Given the description of an element on the screen output the (x, y) to click on. 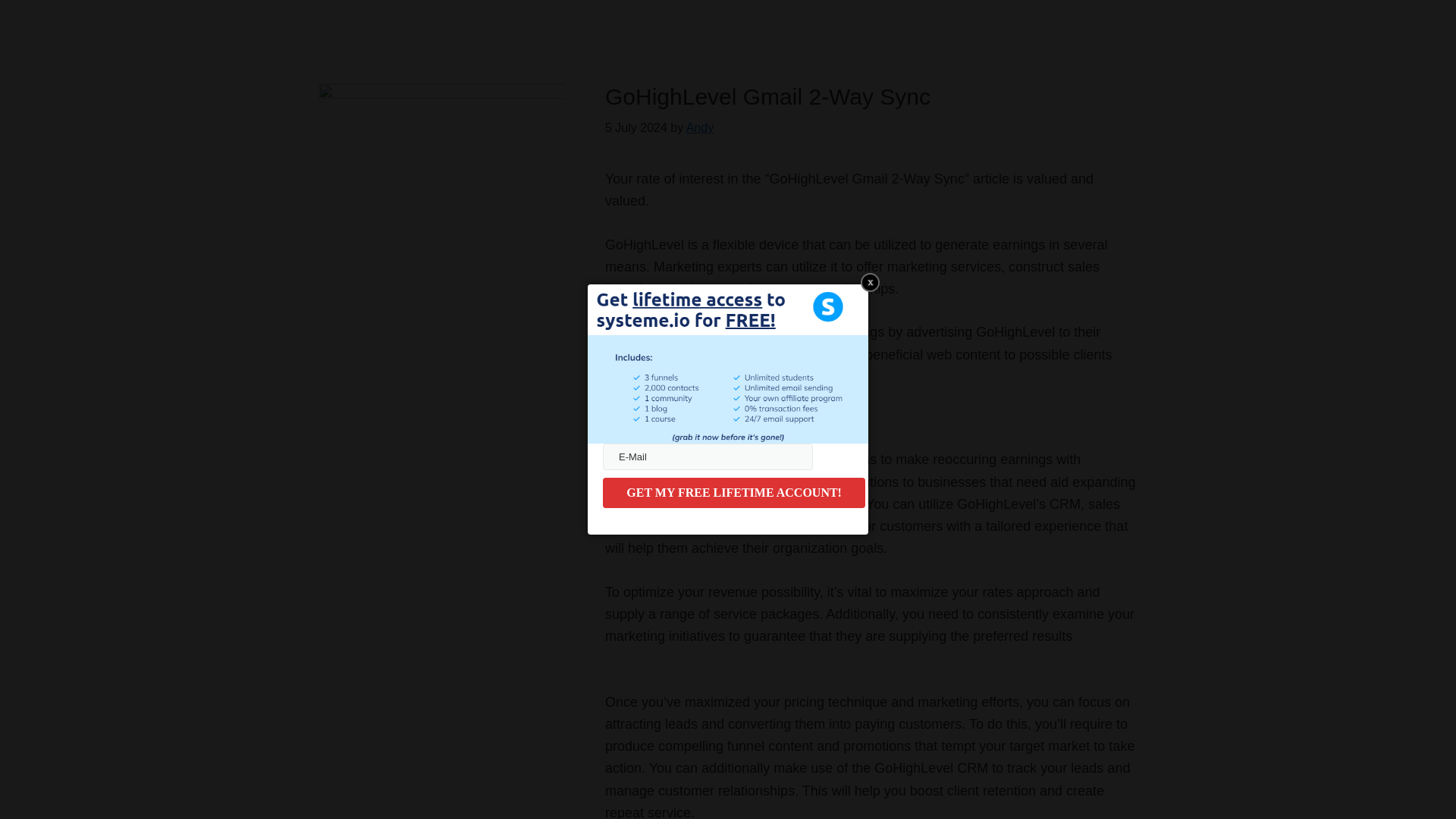
GET MY FREE LIFETIME ACCOUNT! (733, 492)
GET MY FREE LIFETIME ACCOUNT! (733, 492)
Andy (699, 127)
